Given the description of an element on the screen output the (x, y) to click on. 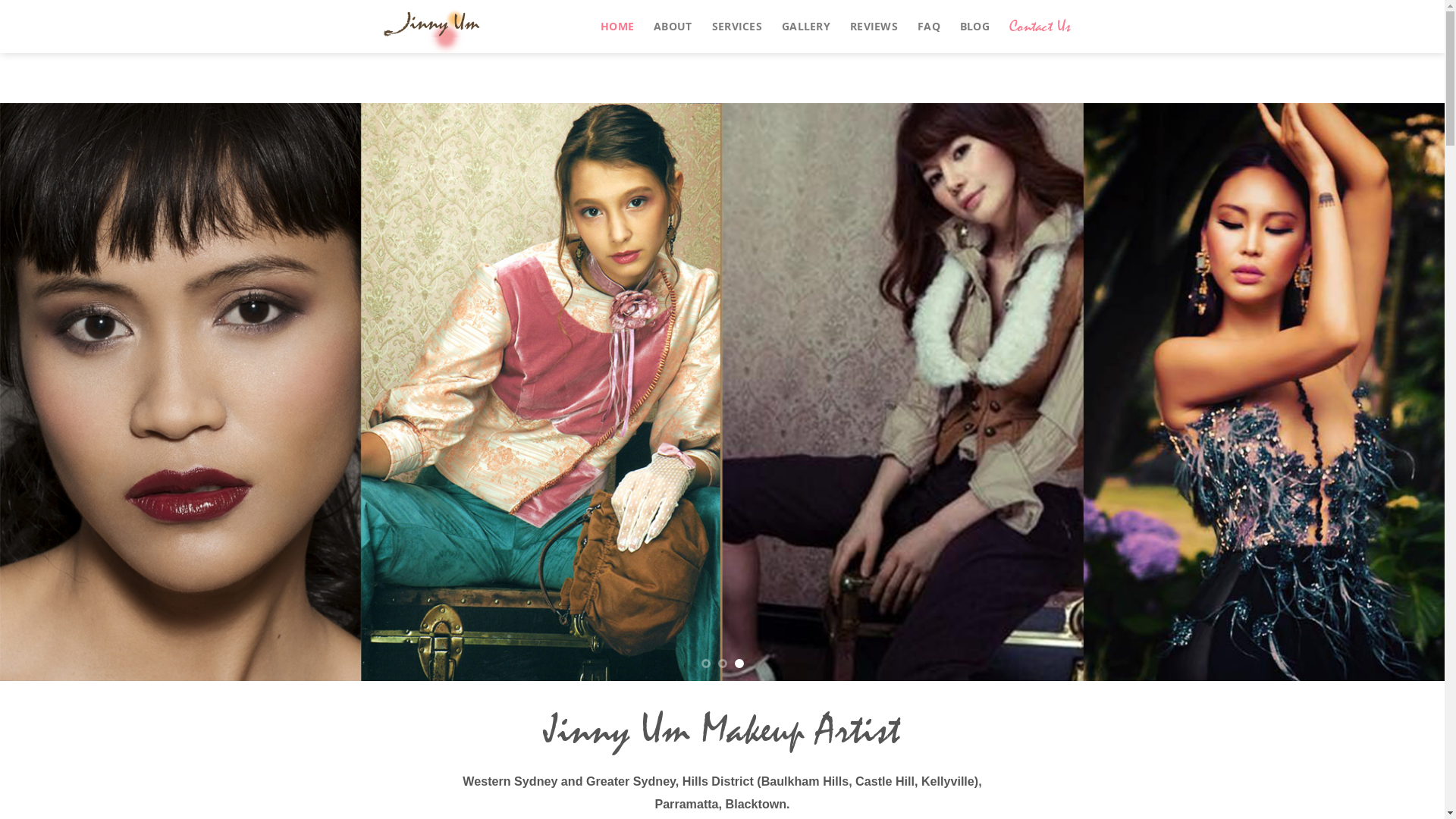
REVIEWS Element type: text (873, 26)
GALLERY Element type: text (805, 26)
SERVICES Element type: text (737, 26)
Contact Us Element type: text (1039, 26)
ABOUT Element type: text (672, 26)
BLOG Element type: text (974, 26)
HOME Element type: text (616, 26)
FAQ Element type: text (928, 26)
Jinny Um Makeup Artist - Western Sydney Makeup Artist Element type: hover (475, 26)
